Given the description of an element on the screen output the (x, y) to click on. 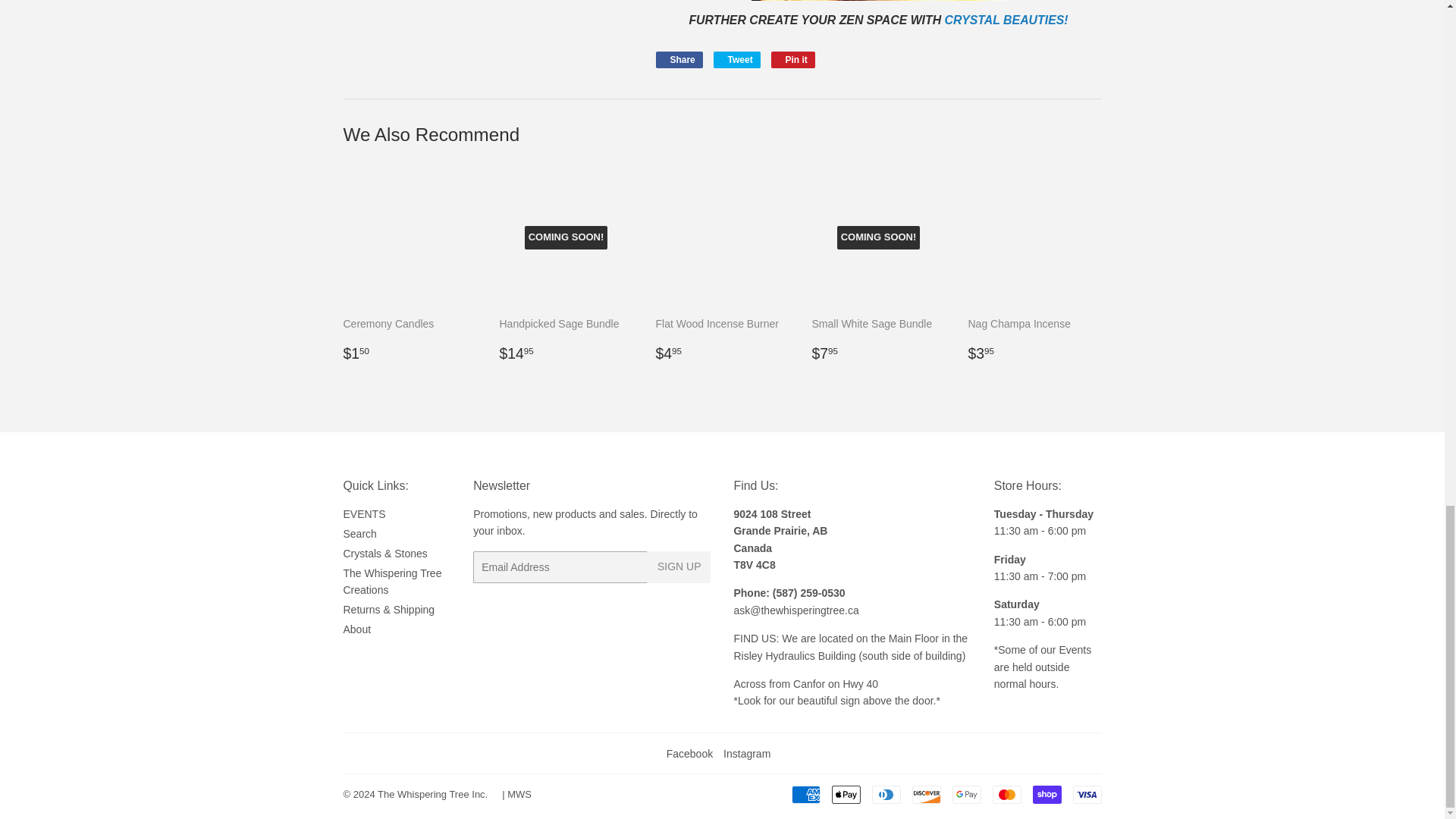
Share on Facebook (678, 59)
Pin on Pinterest (793, 59)
Google Pay (966, 794)
American Express (806, 794)
Diners Club (886, 794)
The Whispering Tree Inc. on Instagram (746, 753)
Apple Pay (845, 794)
The Whispering Tree Inc. on Facebook (689, 753)
Shop Pay (1046, 794)
Discover (925, 794)
Want to build your own online store? (518, 794)
Mastercard (1005, 794)
Tweet on Twitter (736, 59)
Visa (1085, 794)
